Given the description of an element on the screen output the (x, y) to click on. 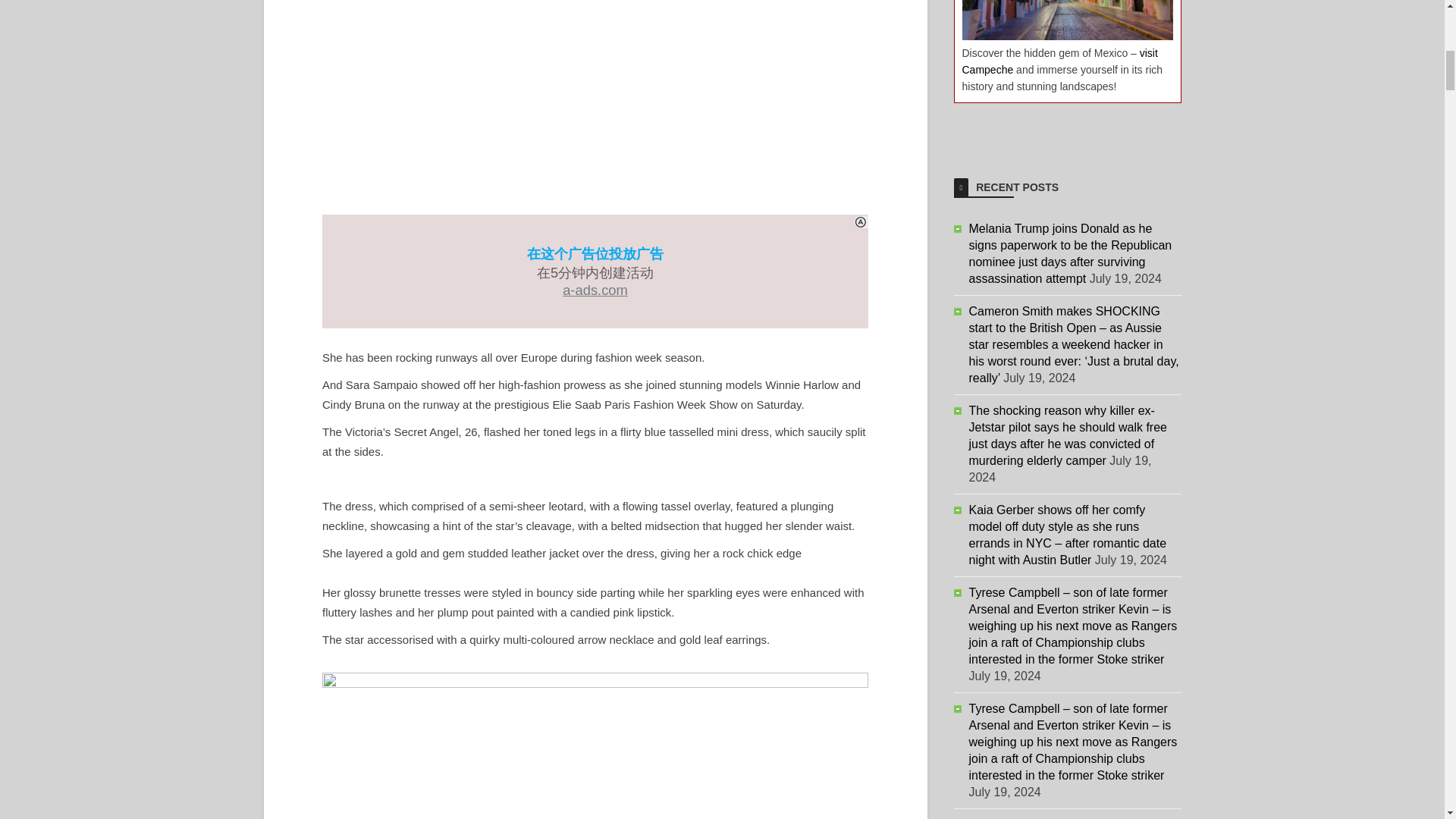
visit Campeche (1058, 61)
